Given the description of an element on the screen output the (x, y) to click on. 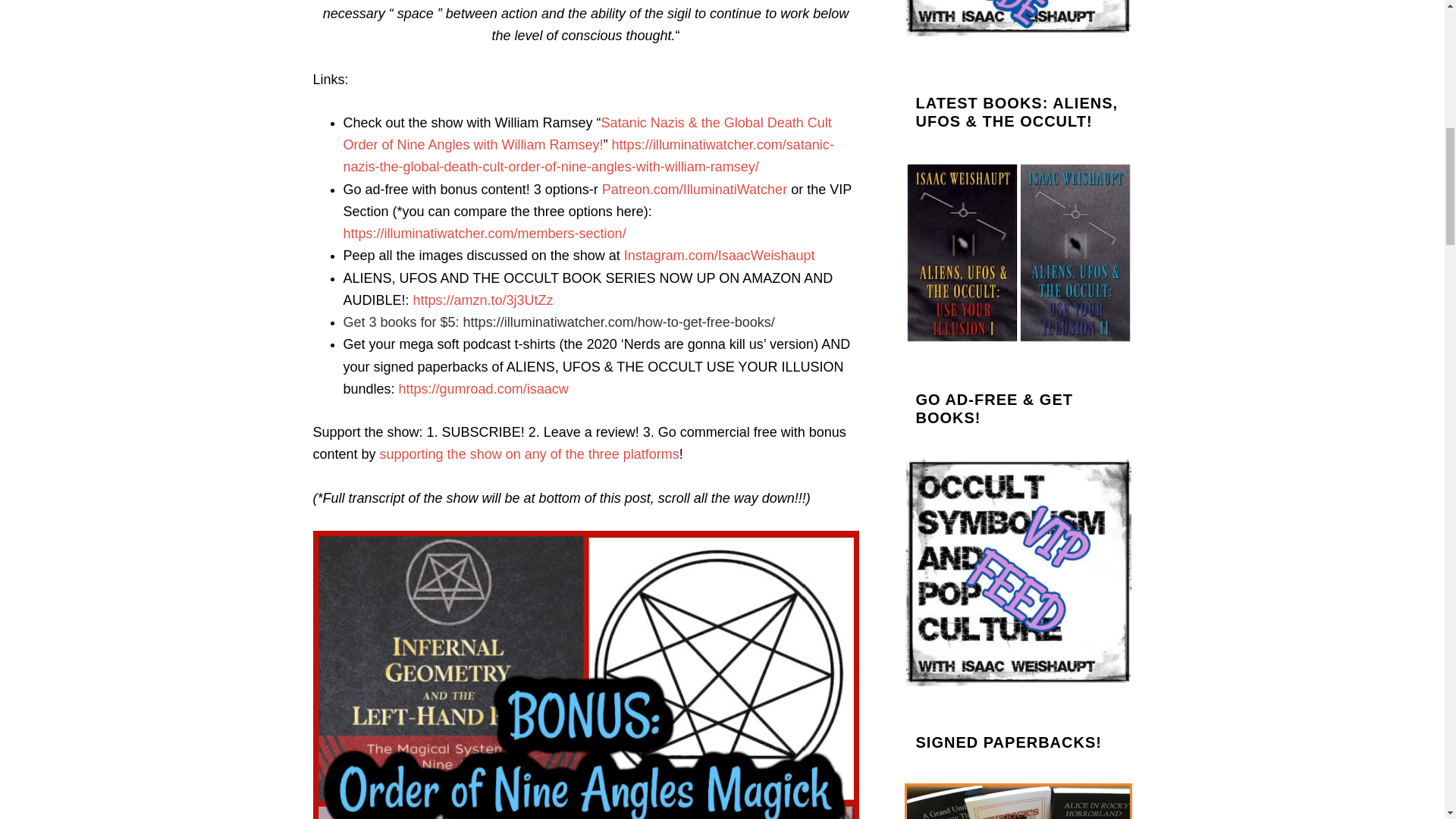
supporting the show on any of the three platforms (529, 453)
